Given the description of an element on the screen output the (x, y) to click on. 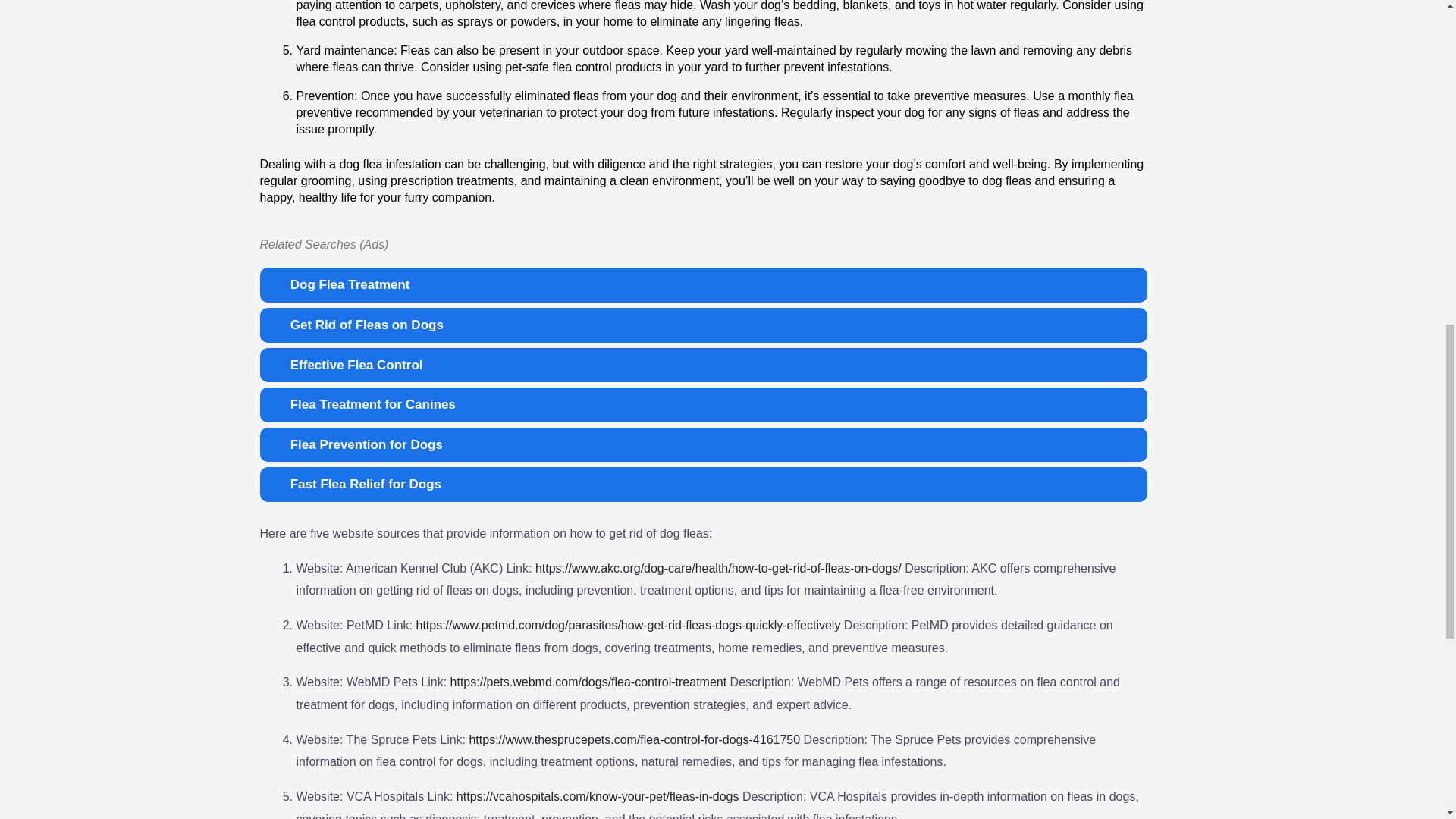
Flea Treatment for Canines (703, 404)
Fast Flea Relief for Dogs (703, 484)
Dog Flea Treatment (703, 284)
Get Rid of Fleas on Dogs (703, 325)
Effective Flea Control (703, 365)
Flea Prevention for Dogs (703, 444)
